Given the description of an element on the screen output the (x, y) to click on. 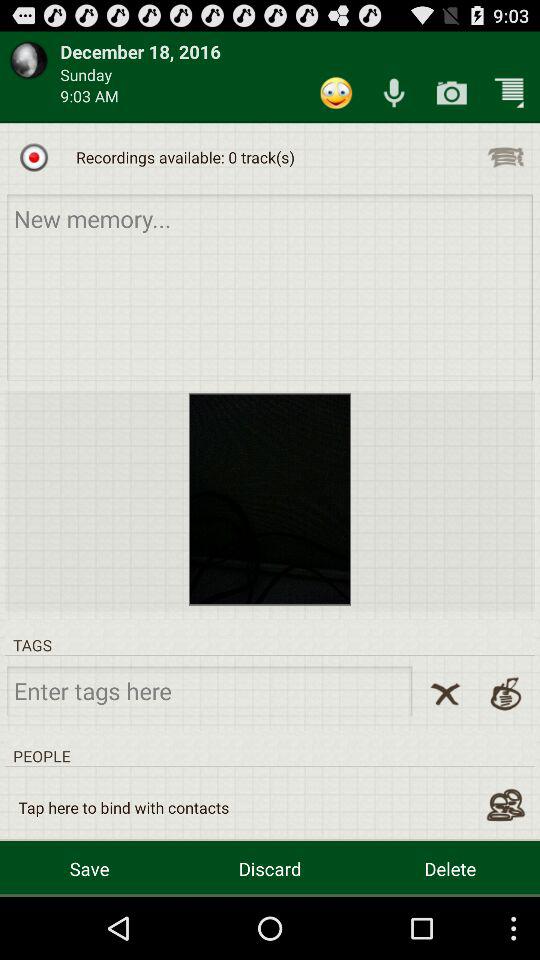
select the app to the left of the recordings available 0 icon (34, 157)
